Given the description of an element on the screen output the (x, y) to click on. 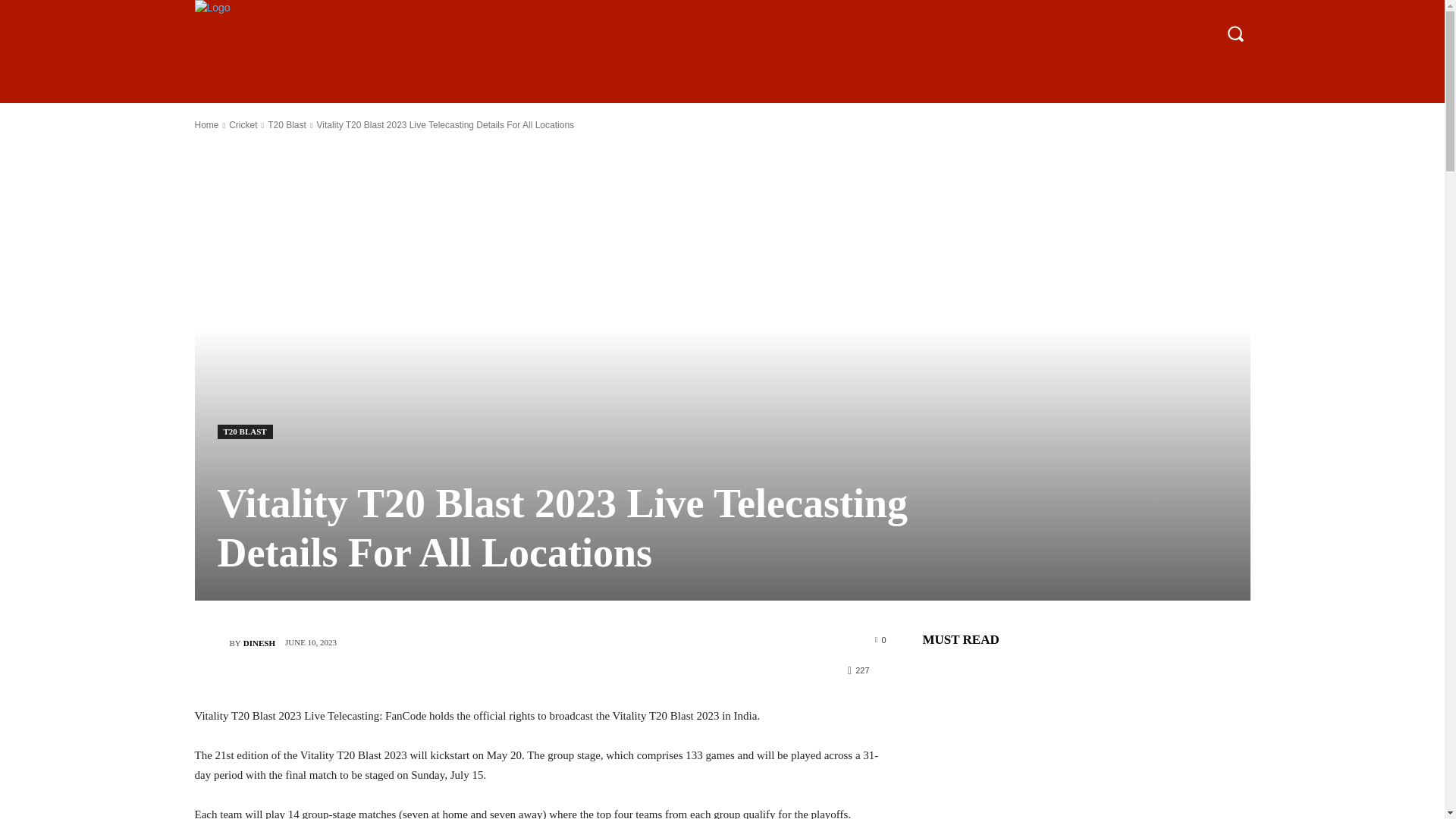
View all posts in Cricket (242, 124)
Dinesh (210, 643)
View all posts in T20 Blast (286, 124)
